Given the description of an element on the screen output the (x, y) to click on. 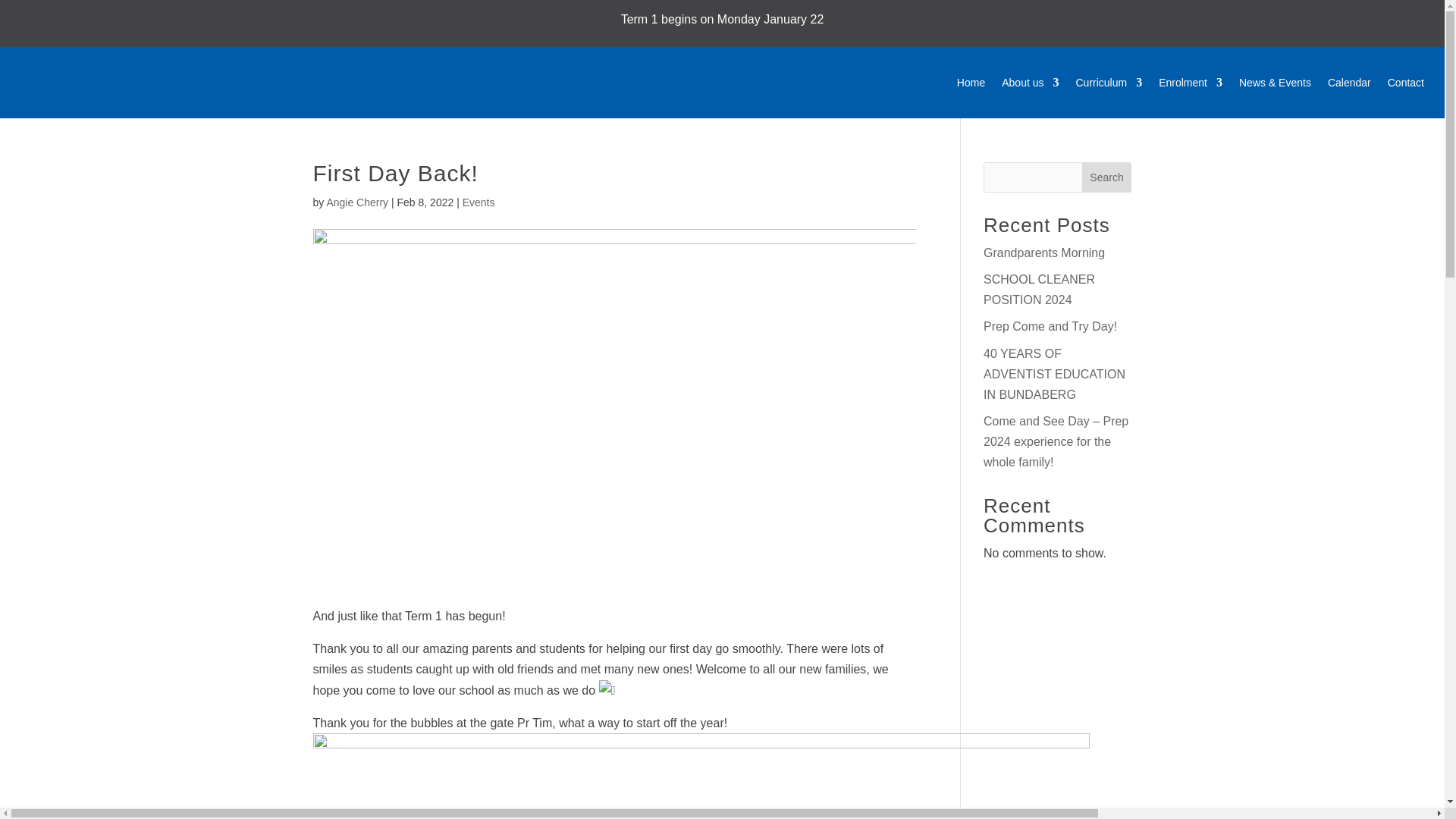
40 YEARS OF ADVENTIST EDUCATION IN BUNDABERG (1054, 374)
Grandparents Morning (1044, 252)
Posts by Angie Cherry (357, 202)
Angie Cherry (357, 202)
Enrolment (1190, 82)
Events (479, 202)
About us (1029, 82)
Curriculum (1108, 82)
Prep Come and Try Day! (1050, 326)
Search (1106, 177)
SCHOOL CLEANER POSITION 2024 (1039, 289)
